Given the description of an element on the screen output the (x, y) to click on. 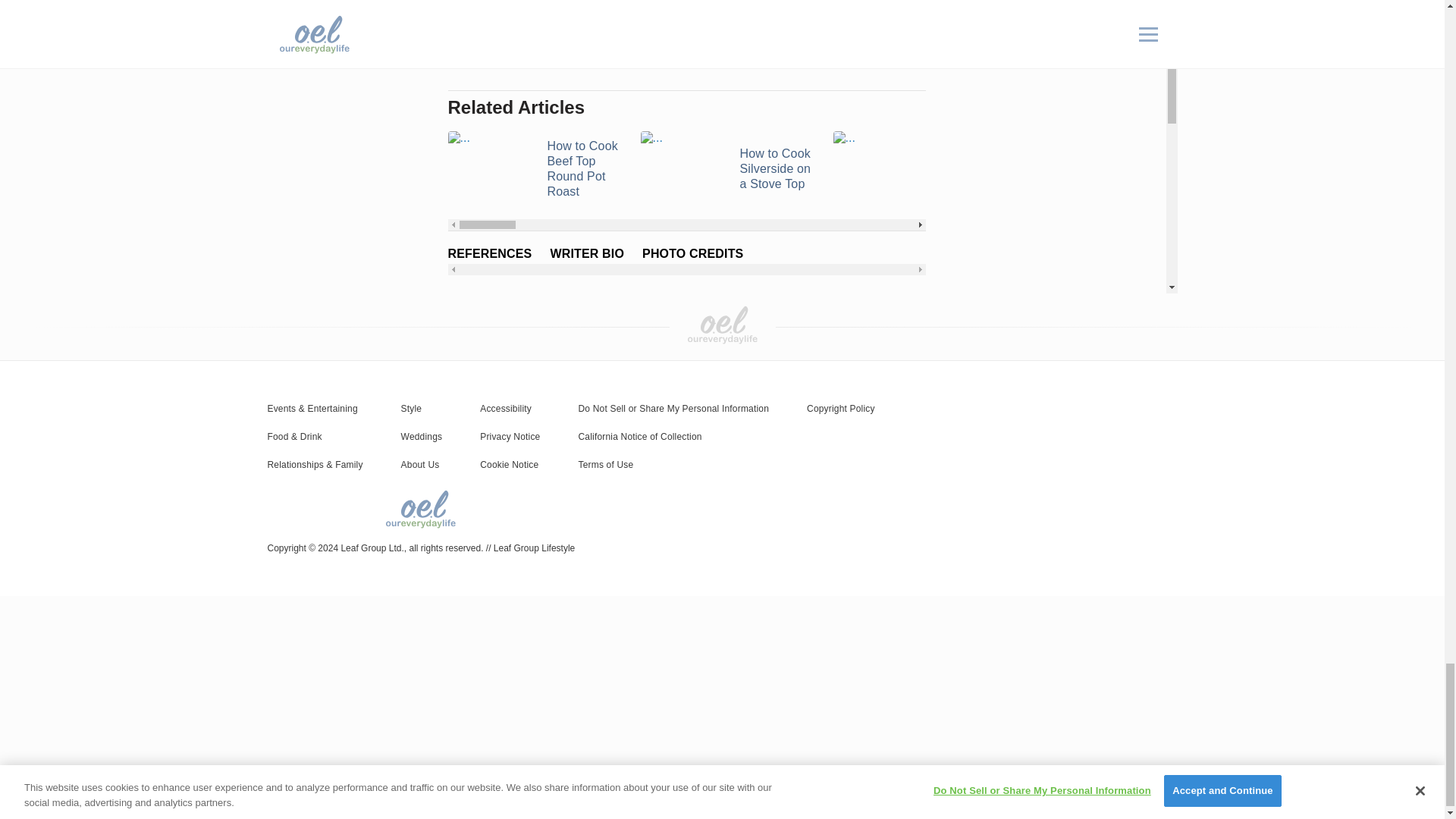
How to Braise a Beef Mock Tender Roast (1304, 169)
How to Cook Beef Top Round Pot Roast (533, 169)
How to Slow Cook a Pot Roast With Beef ... (1112, 169)
How to Cook Silverside on a Stove Top (726, 169)
Adding Corn Starch to a Pot Roast (919, 169)
